Given the description of an element on the screen output the (x, y) to click on. 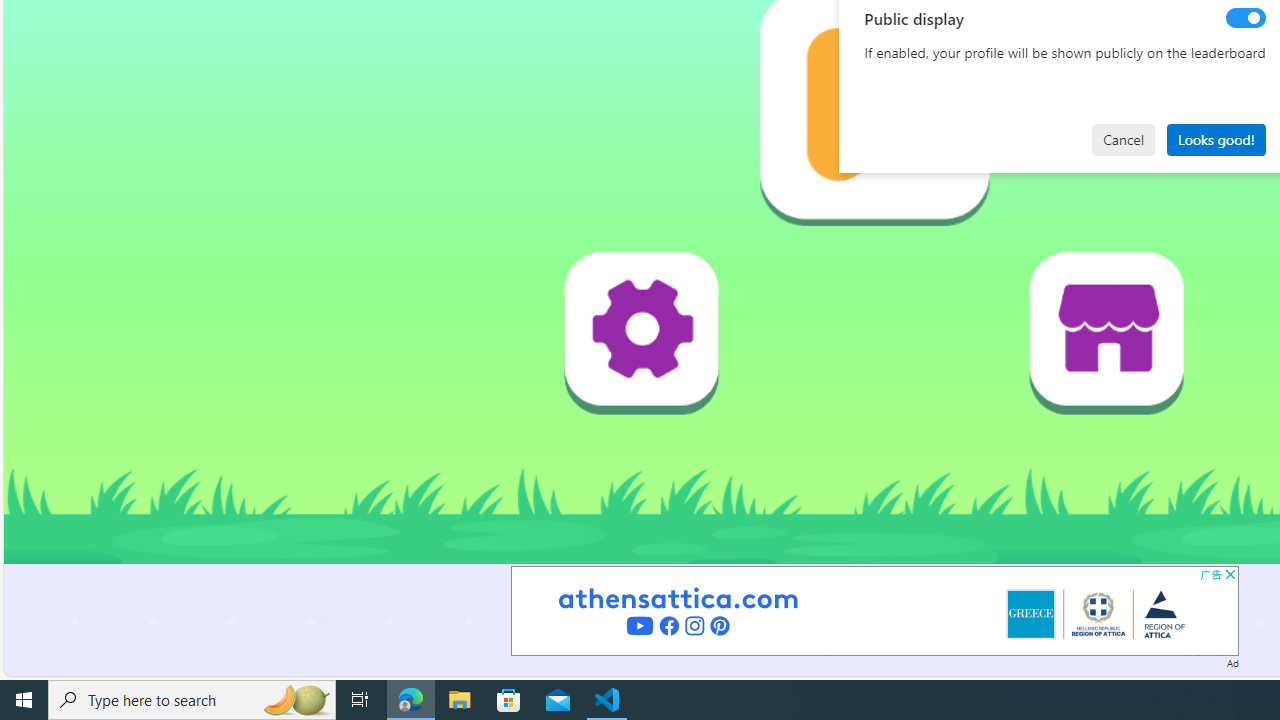
Advertisement (874, 610)
Cancel (1123, 139)
Looks good! (1216, 139)
Advertisement (874, 610)
AutomationID: cbb (1229, 574)
